Given the description of an element on the screen output the (x, y) to click on. 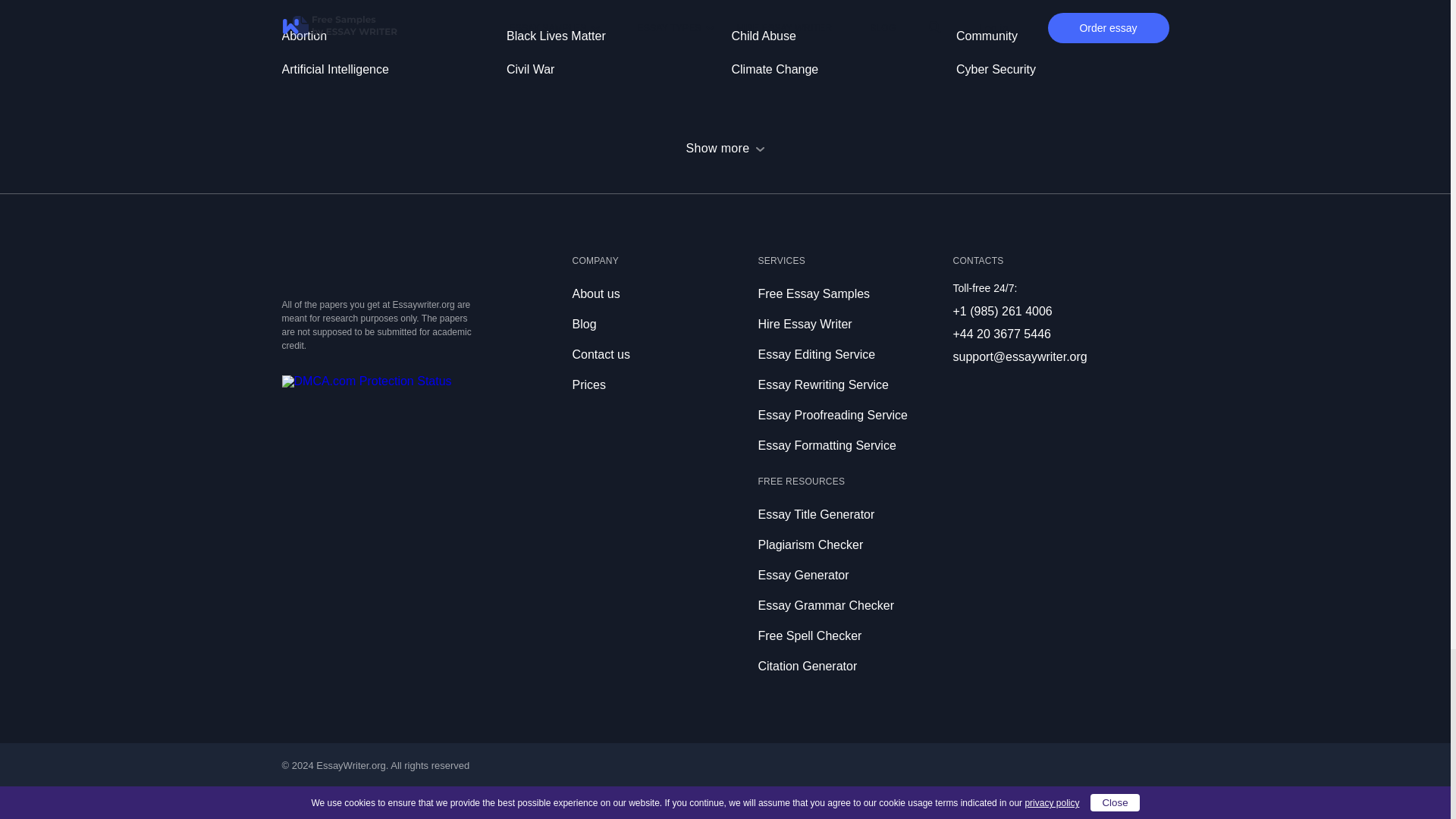
DMCA.com Protection Status (366, 380)
